Given the description of an element on the screen output the (x, y) to click on. 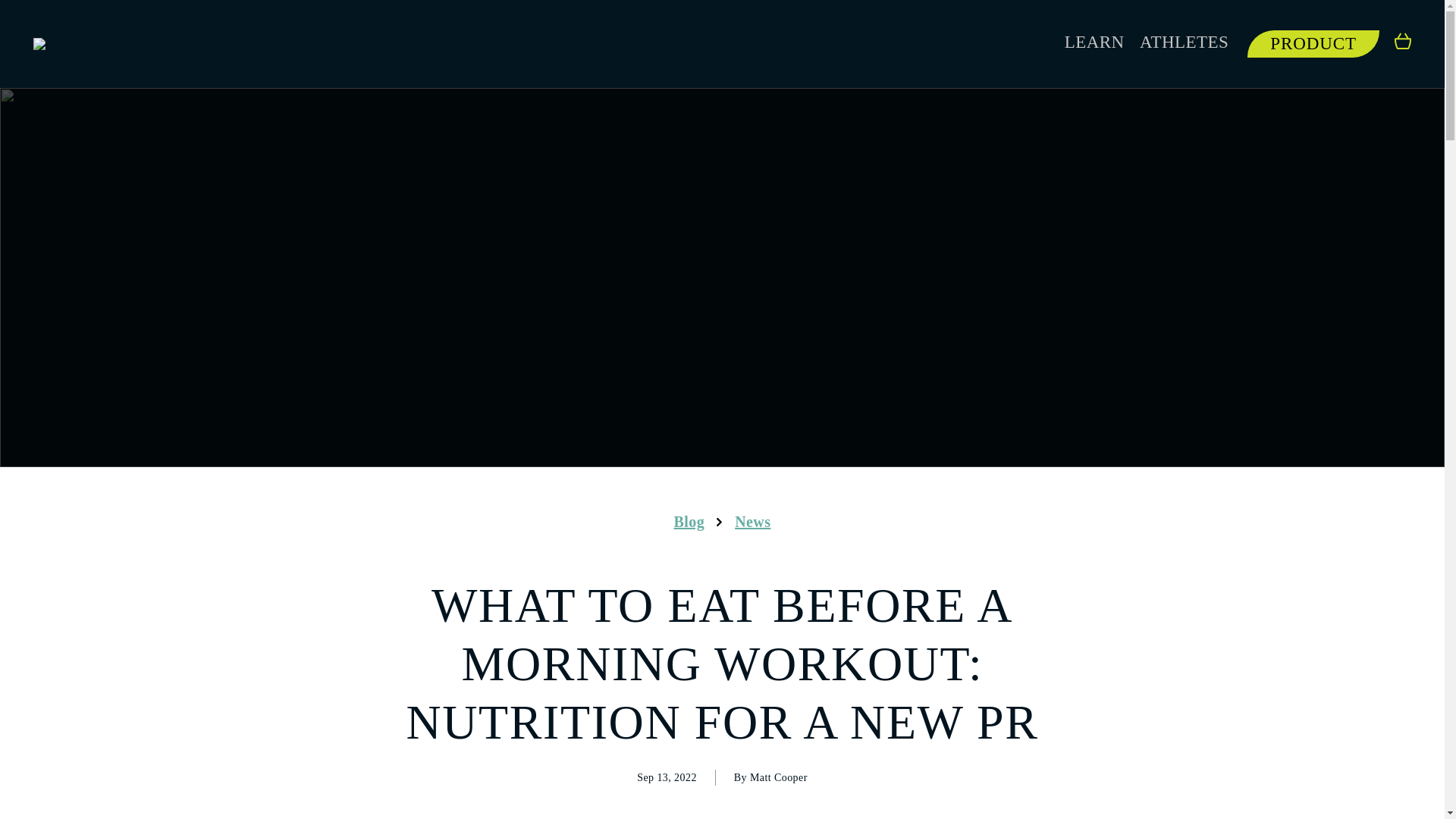
Blog (689, 521)
ATHLETES (1184, 42)
PRODUCT (1312, 43)
News (752, 521)
LEARN (1094, 42)
